Given the description of an element on the screen output the (x, y) to click on. 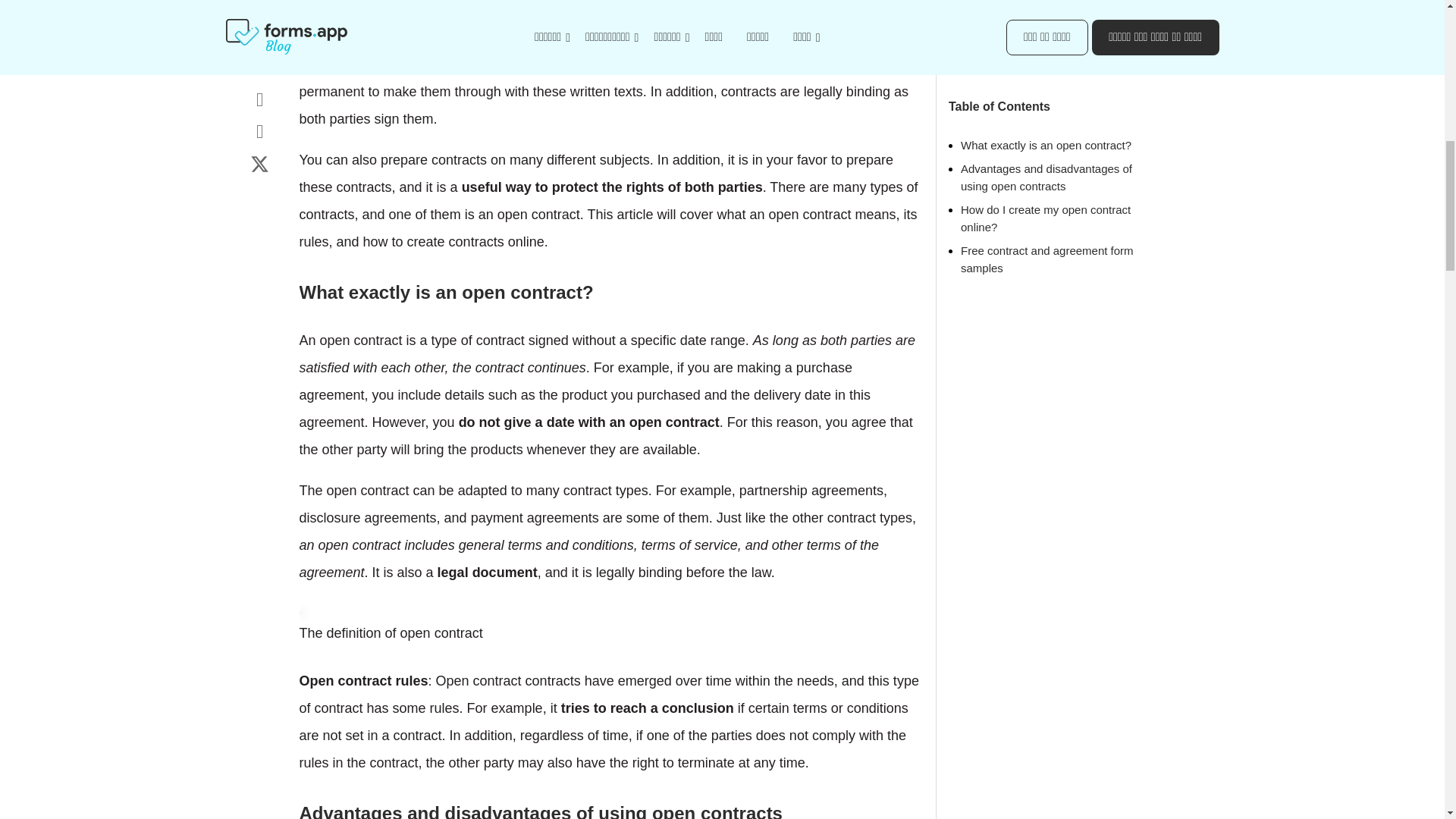
What exactly is an open contract? (1045, 71)
How do I create my open contract online? (1045, 144)
Advantages and disadvantages of using open contracts (1046, 103)
Free contract and agreement form samples (1047, 185)
